Given the description of an element on the screen output the (x, y) to click on. 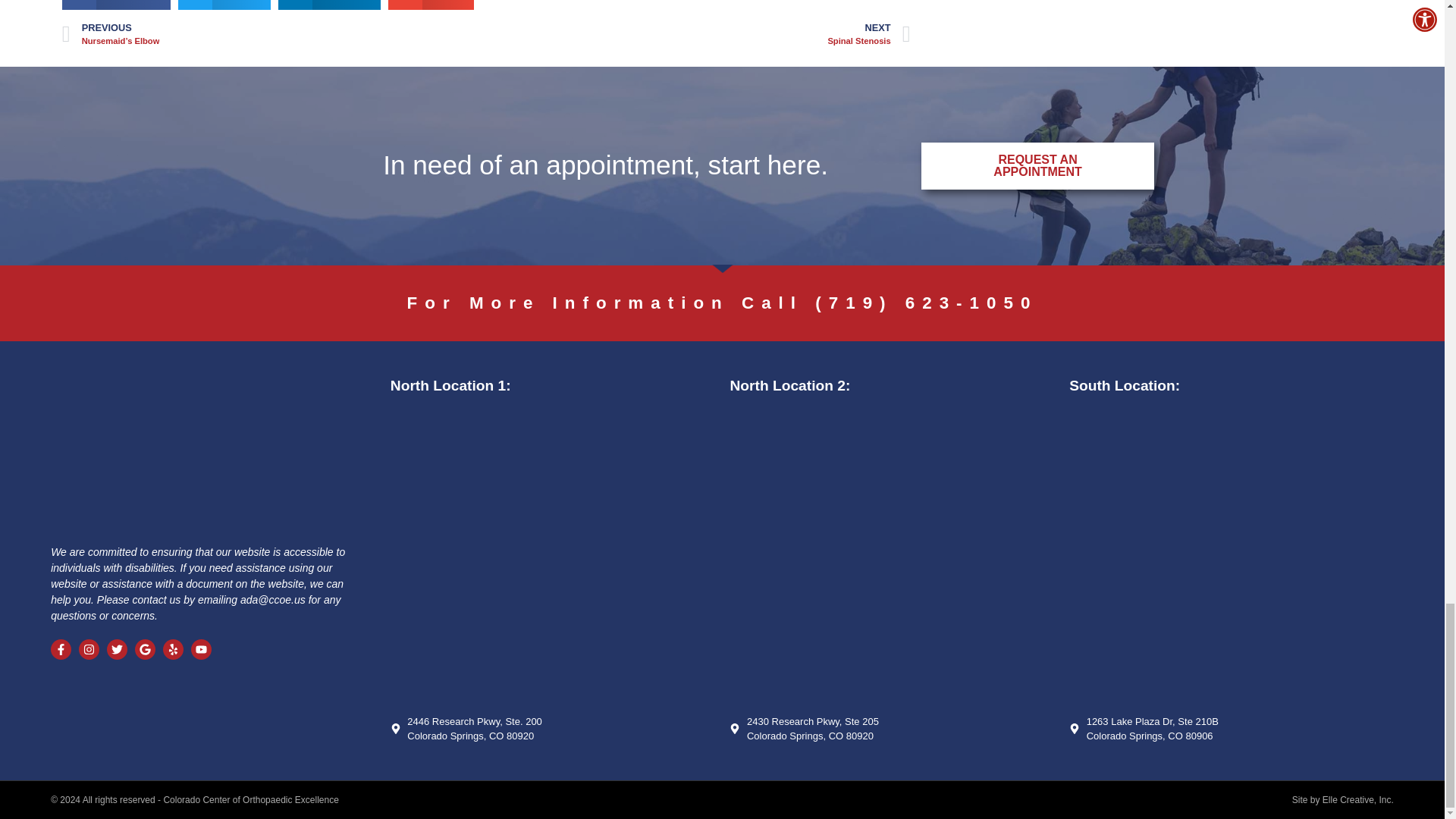
Colorado Center of Orthopaedic Excellence 2446 Research Pkwy (552, 554)
Colorado Center of Orthopaedic Excellence 2430 Research Pkwy (891, 554)
